Given the description of an element on the screen output the (x, y) to click on. 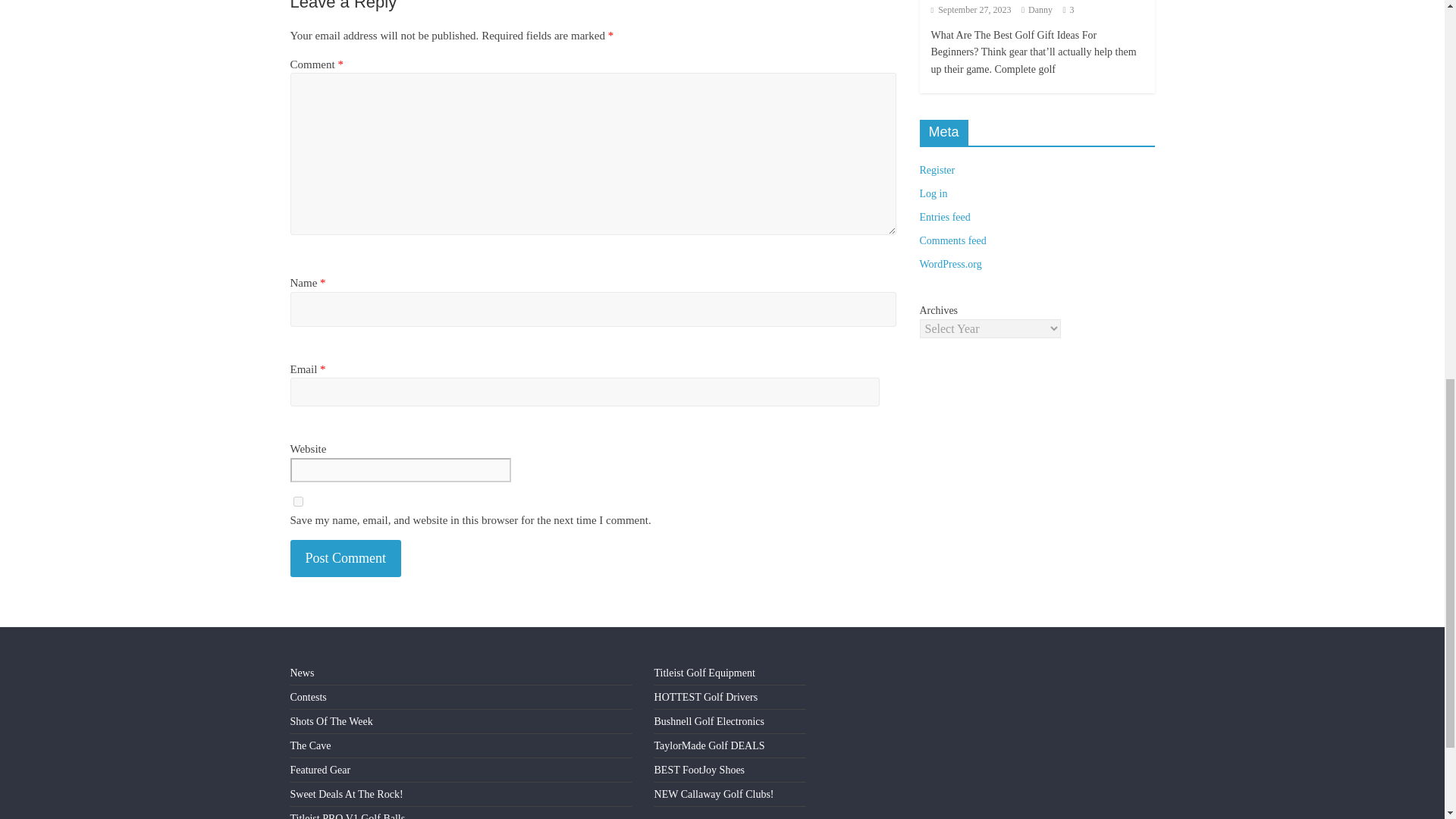
yes (297, 501)
Post Comment (345, 558)
Post Comment (345, 558)
